Given the description of an element on the screen output the (x, y) to click on. 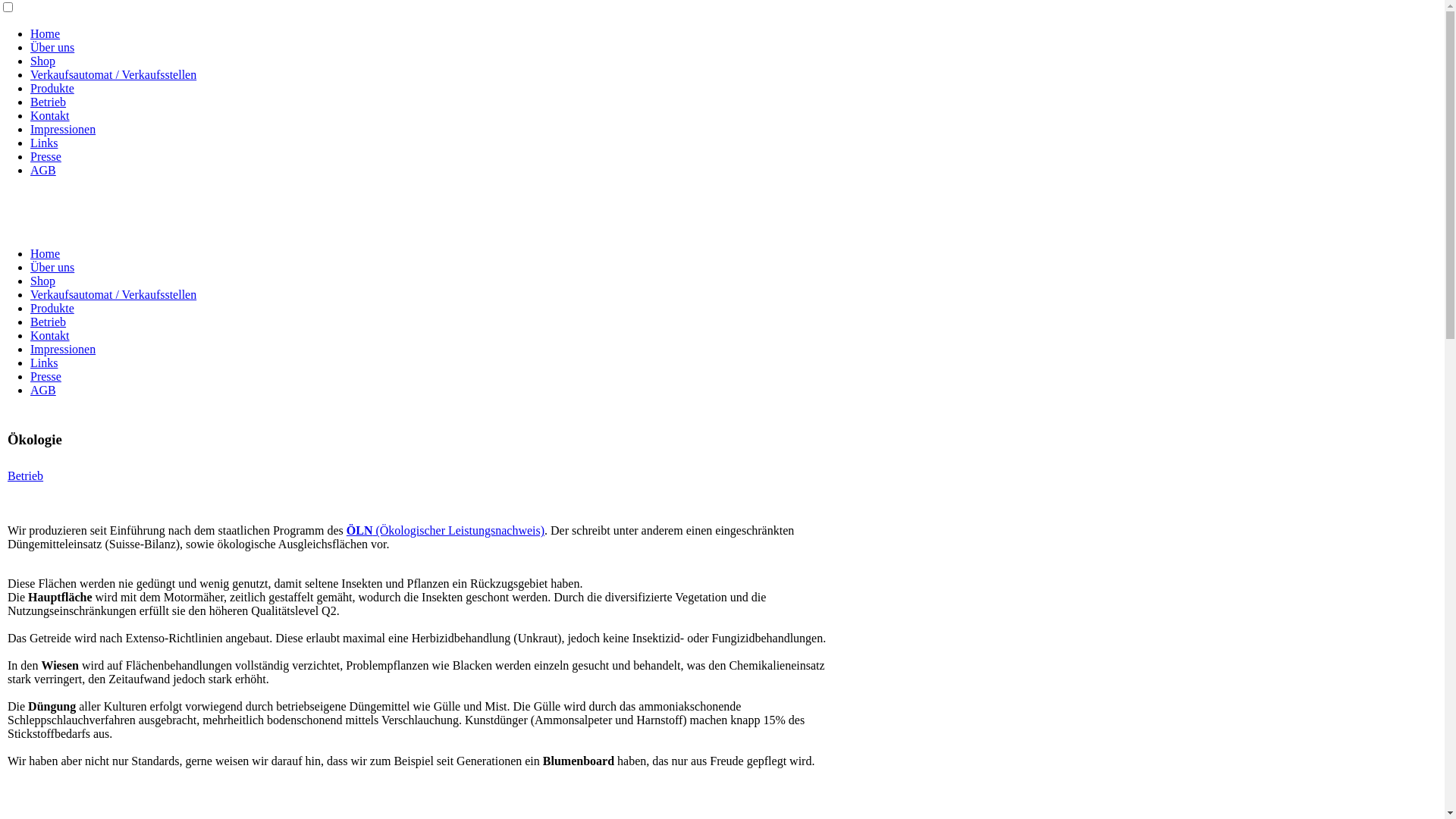
Produkte Element type: text (52, 307)
Links Element type: text (43, 142)
Home Element type: text (44, 33)
Shop Element type: text (42, 60)
Kontakt Element type: text (49, 335)
AGB Element type: text (43, 169)
Impressionen Element type: text (62, 128)
Betrieb Element type: text (25, 475)
Betrieb Element type: text (47, 101)
Presse Element type: text (45, 376)
Verkaufsautomat / Verkaufsstellen Element type: text (113, 74)
Verkaufsautomat / Verkaufsstellen Element type: text (113, 294)
Kontakt Element type: text (49, 115)
Presse Element type: text (45, 156)
AGB Element type: text (43, 389)
Betrieb Element type: text (47, 321)
Produkte Element type: text (52, 87)
Home Element type: text (44, 253)
Impressionen Element type: text (62, 348)
Shop Element type: text (42, 280)
Links Element type: text (43, 362)
